Given the description of an element on the screen output the (x, y) to click on. 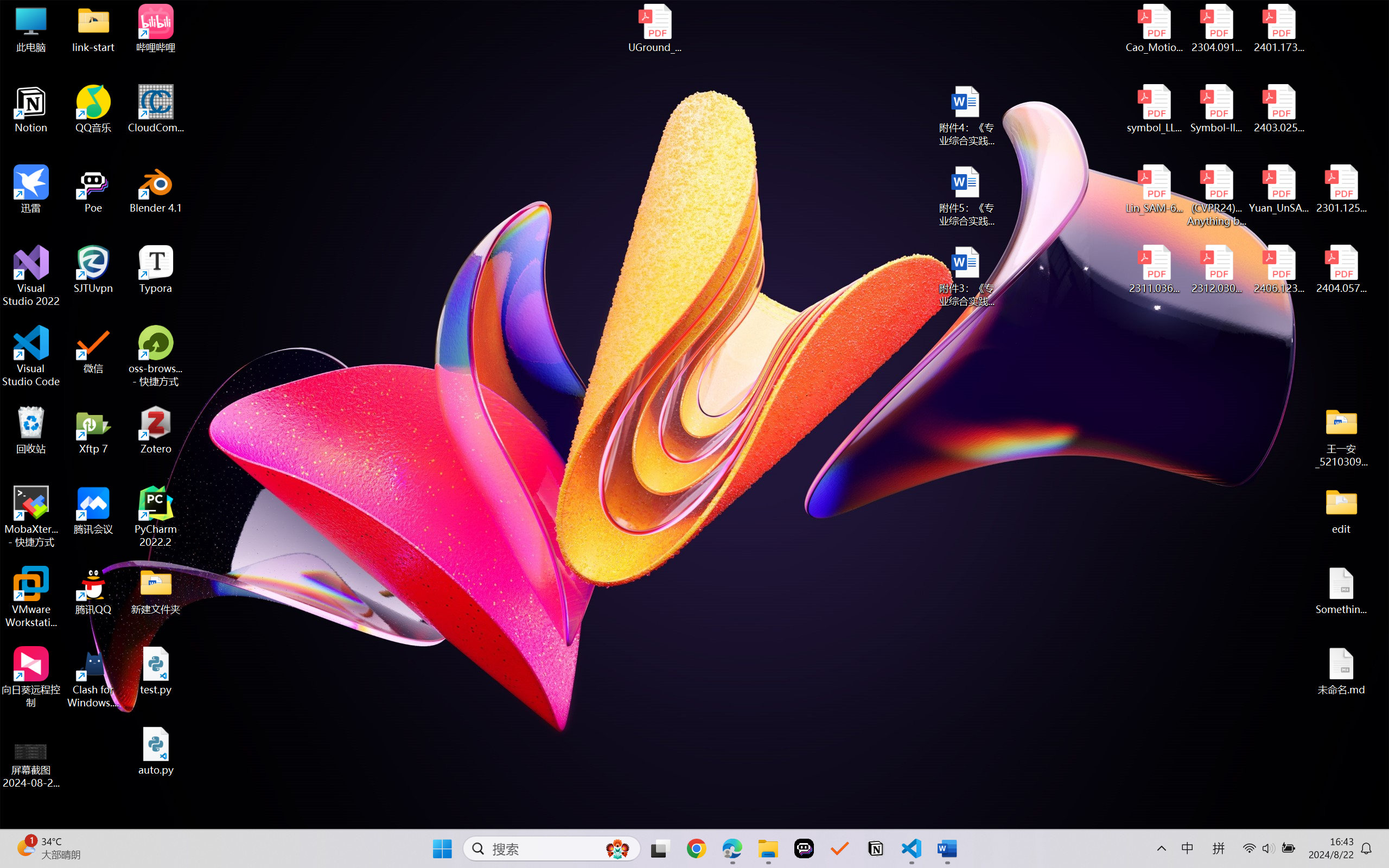
Typora (156, 269)
2406.12373v2.pdf (1278, 269)
Visual Studio 2022 (31, 276)
CloudCompare (156, 109)
